Given the description of an element on the screen output the (x, y) to click on. 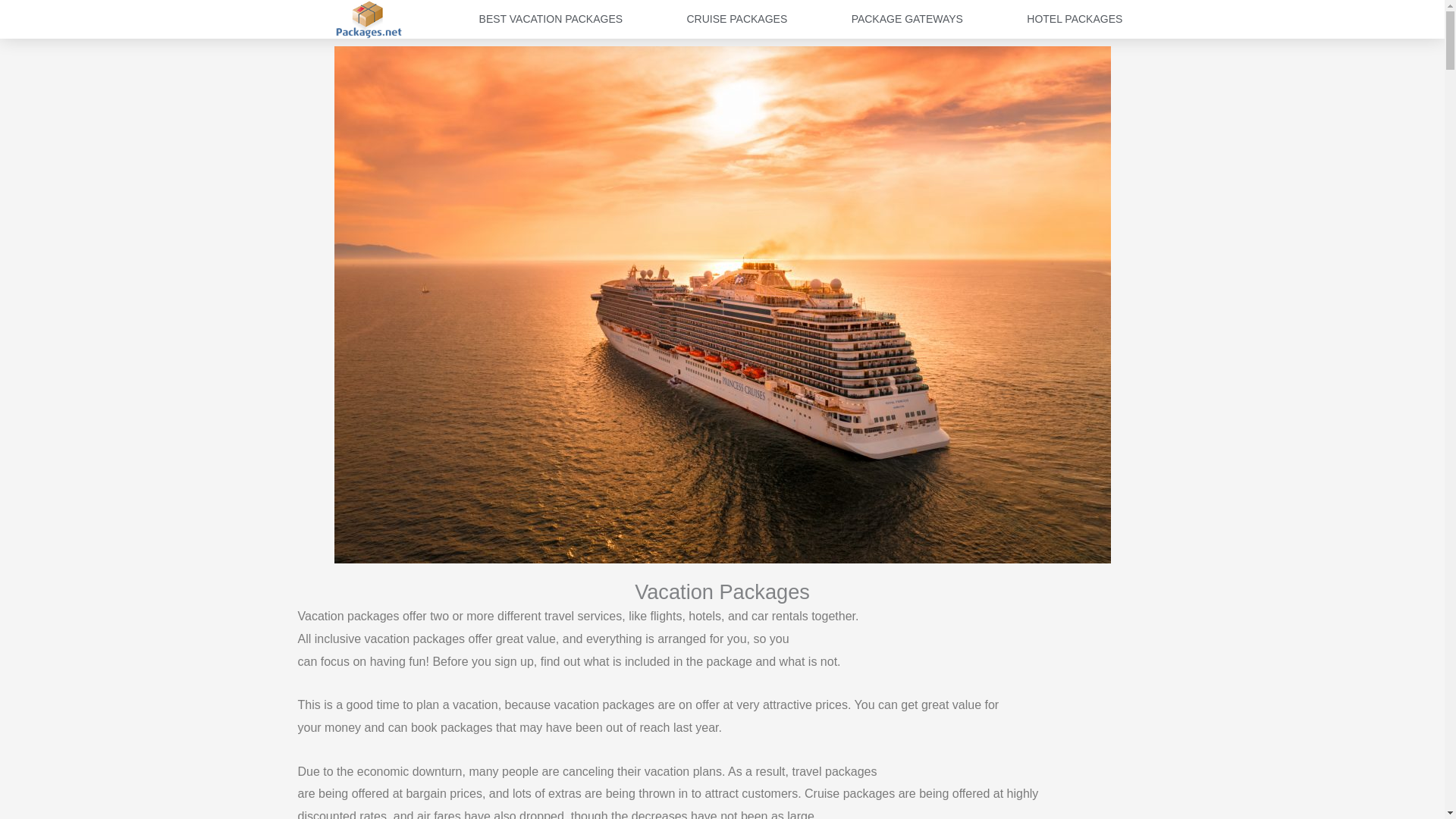
PACKAGE GATEWAYS (906, 18)
HOTEL PACKAGES (1074, 18)
CRUISE PACKAGES (735, 18)
BEST VACATION PACKAGES (549, 18)
